Given the description of an element on the screen output the (x, y) to click on. 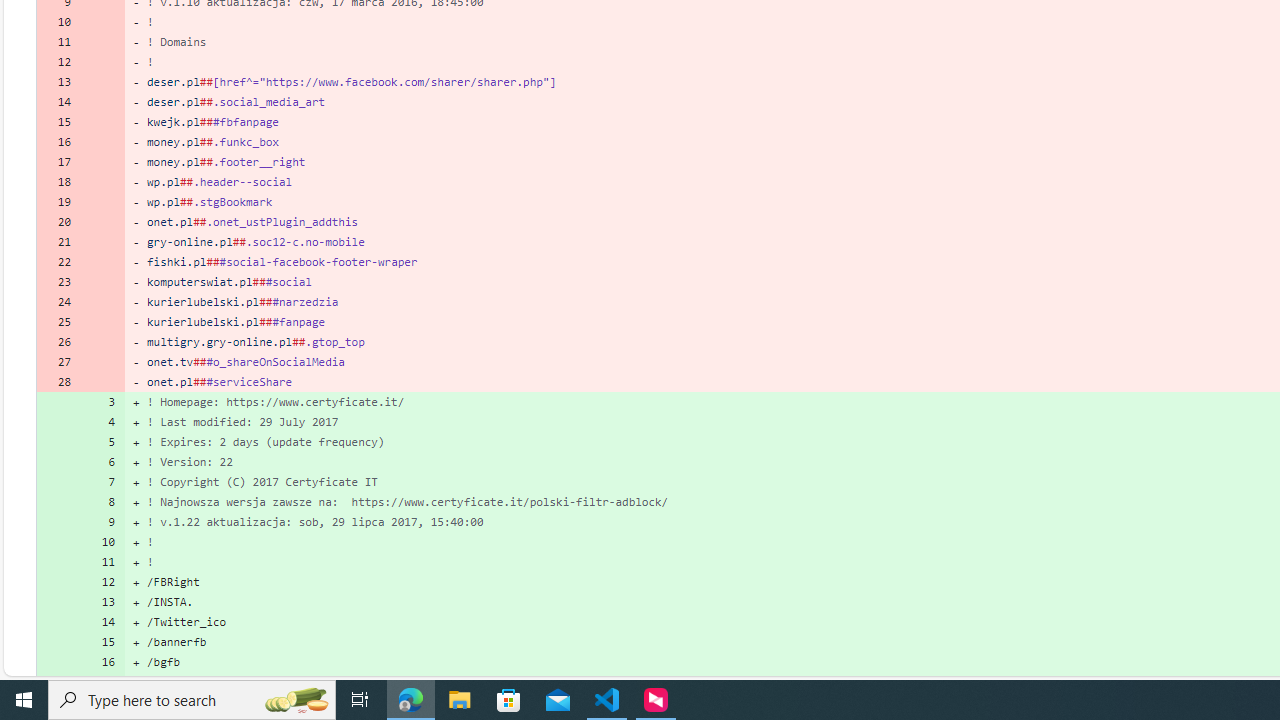
13 (102, 601)
Class: blob-num blob-num-deletion empty-cell (102, 381)
8 (102, 501)
26 (58, 341)
7 (102, 481)
24 (58, 301)
20 (58, 221)
23 (58, 282)
19 (58, 201)
28 (58, 381)
27 (58, 362)
4 (102, 421)
16 (102, 661)
